Given the description of an element on the screen output the (x, y) to click on. 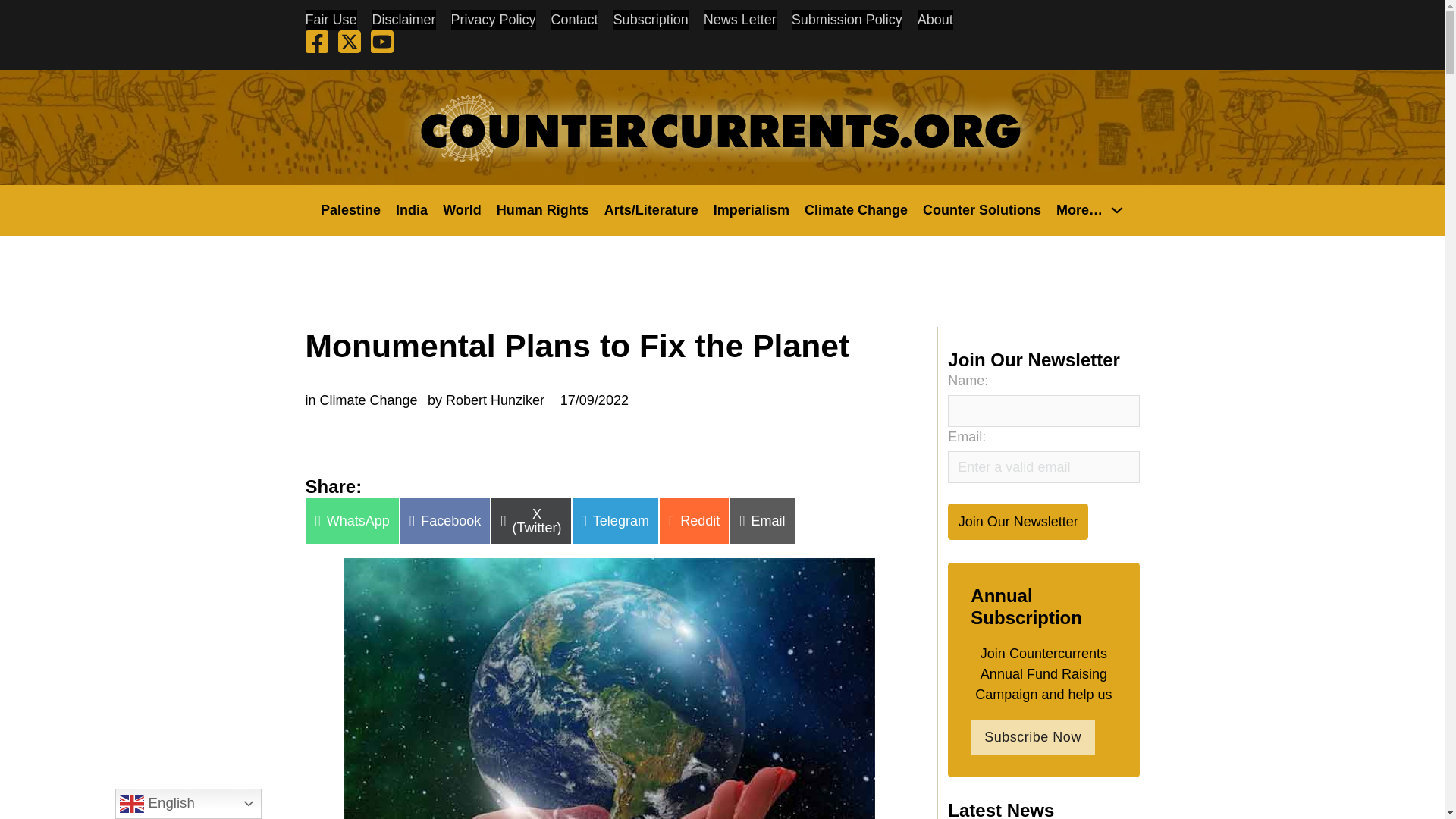
Submission Policy (847, 19)
Subscription (650, 19)
Climate Change (856, 209)
Palestine (350, 209)
Contact (574, 19)
Fair Use (330, 19)
Human Rights (542, 209)
Join Our Newsletter (1017, 520)
About (935, 19)
News Letter (739, 19)
Disclaimer (403, 19)
Privacy Policy (493, 19)
World (461, 209)
Imperialism (751, 209)
